Given the description of an element on the screen output the (x, y) to click on. 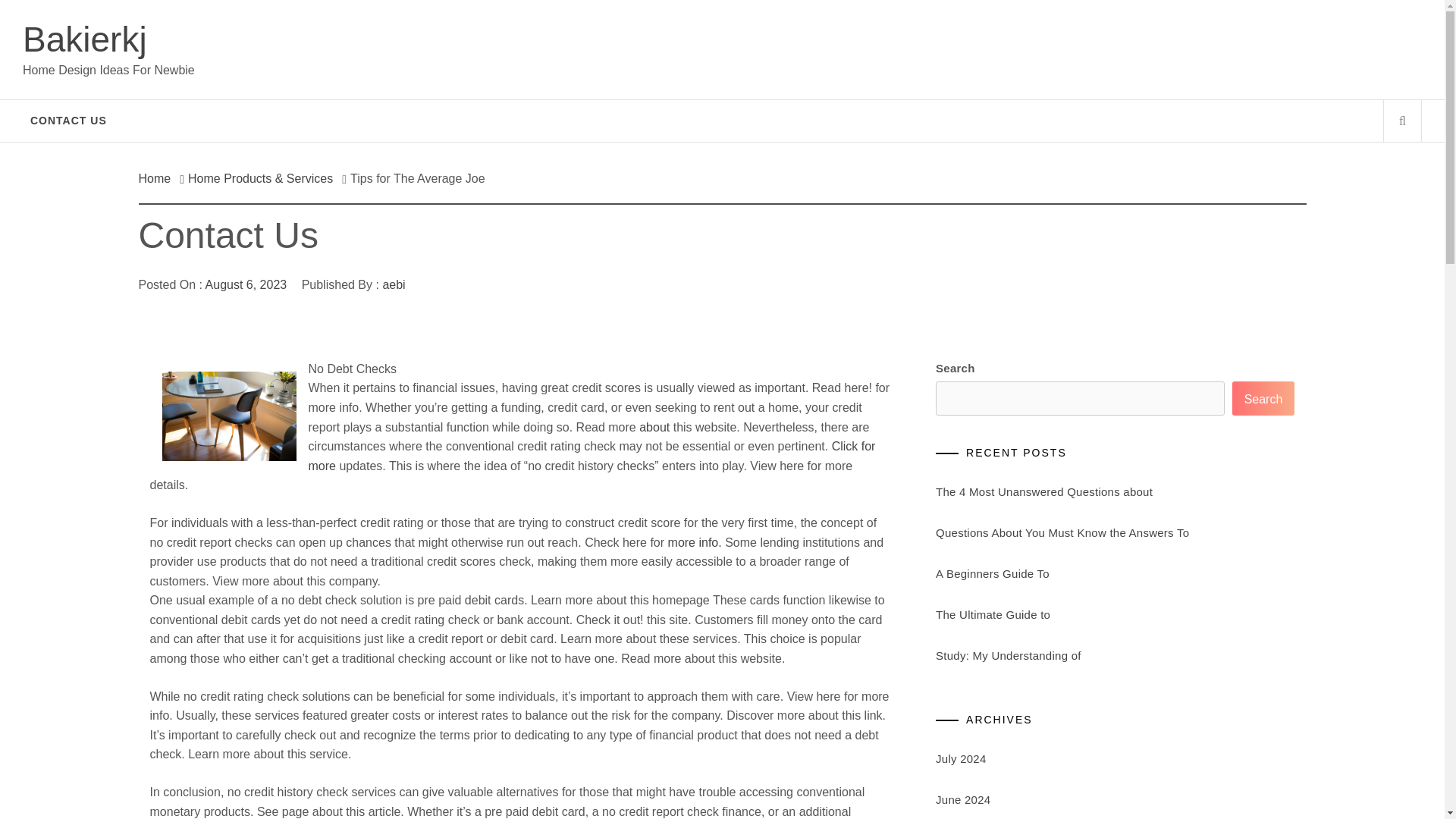
Home (158, 178)
aebi (392, 284)
August 6, 2023 (245, 284)
Search (797, 37)
Click for more (591, 455)
A Beginners Guide To (992, 573)
CONTACT US (69, 120)
Study: My Understanding of (1008, 655)
Questions About You Must Know the Answers To (1062, 532)
Bakierkj (85, 38)
more info. (695, 542)
The 4 Most Unanswered Questions about (1044, 491)
July 2024 (960, 758)
Search (1263, 398)
June 2024 (963, 799)
